Given the description of an element on the screen output the (x, y) to click on. 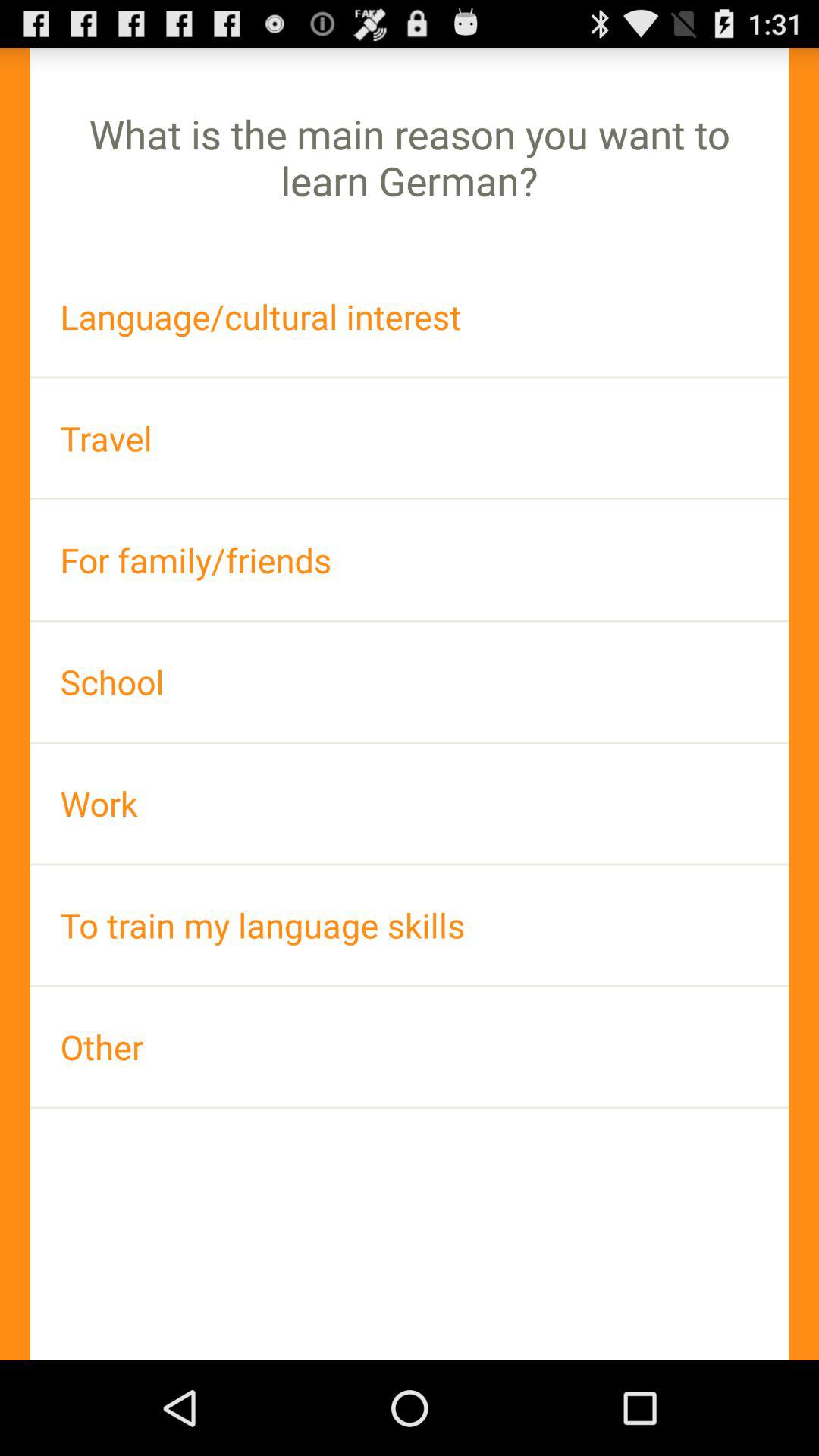
launch the item below language/cultural interest app (409, 438)
